Given the description of an element on the screen output the (x, y) to click on. 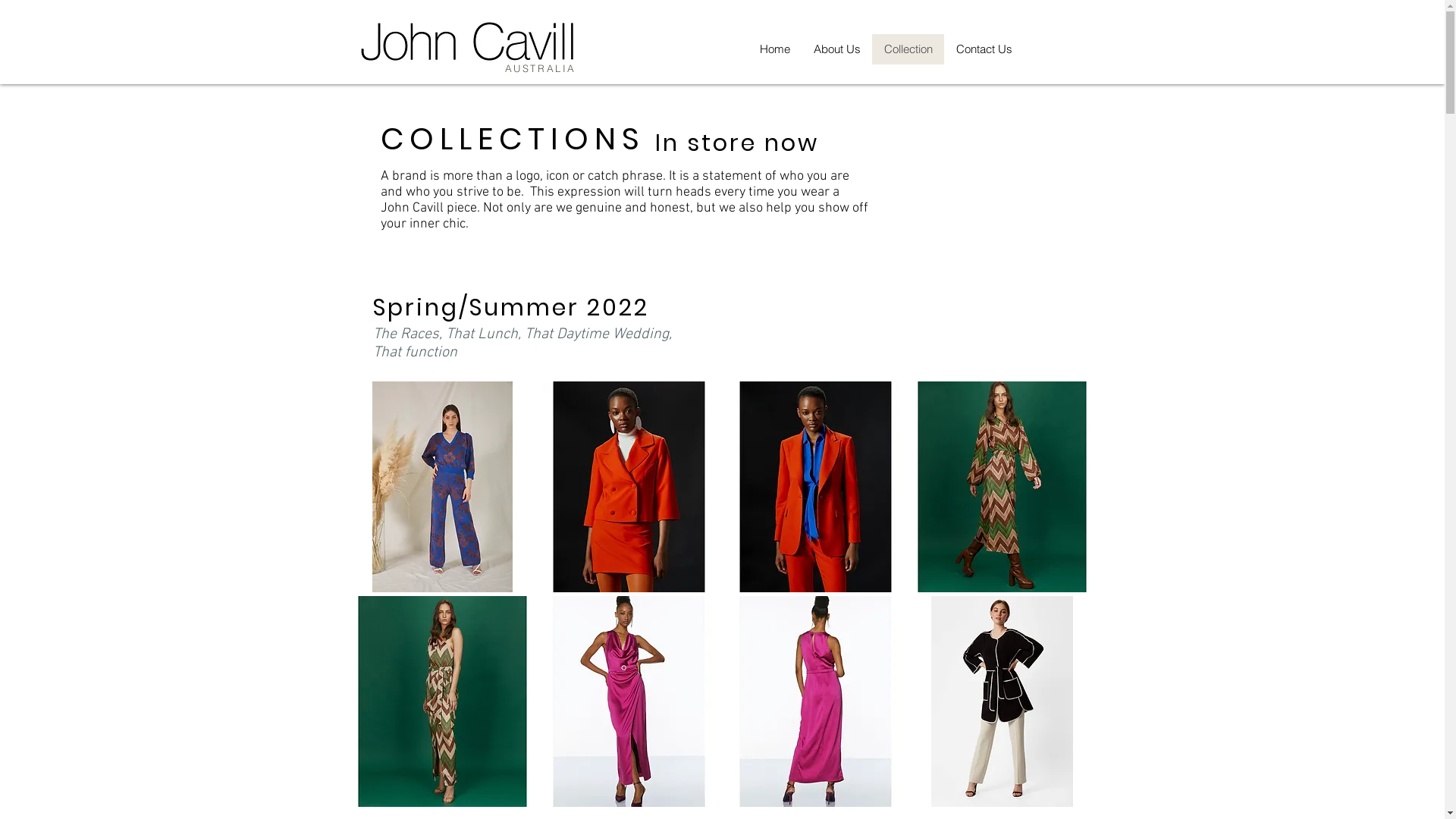
Collection Element type: text (908, 49)
About Us Element type: text (835, 49)
Home Element type: text (774, 49)
Contact Us Element type: text (982, 49)
